Given the description of an element on the screen output the (x, y) to click on. 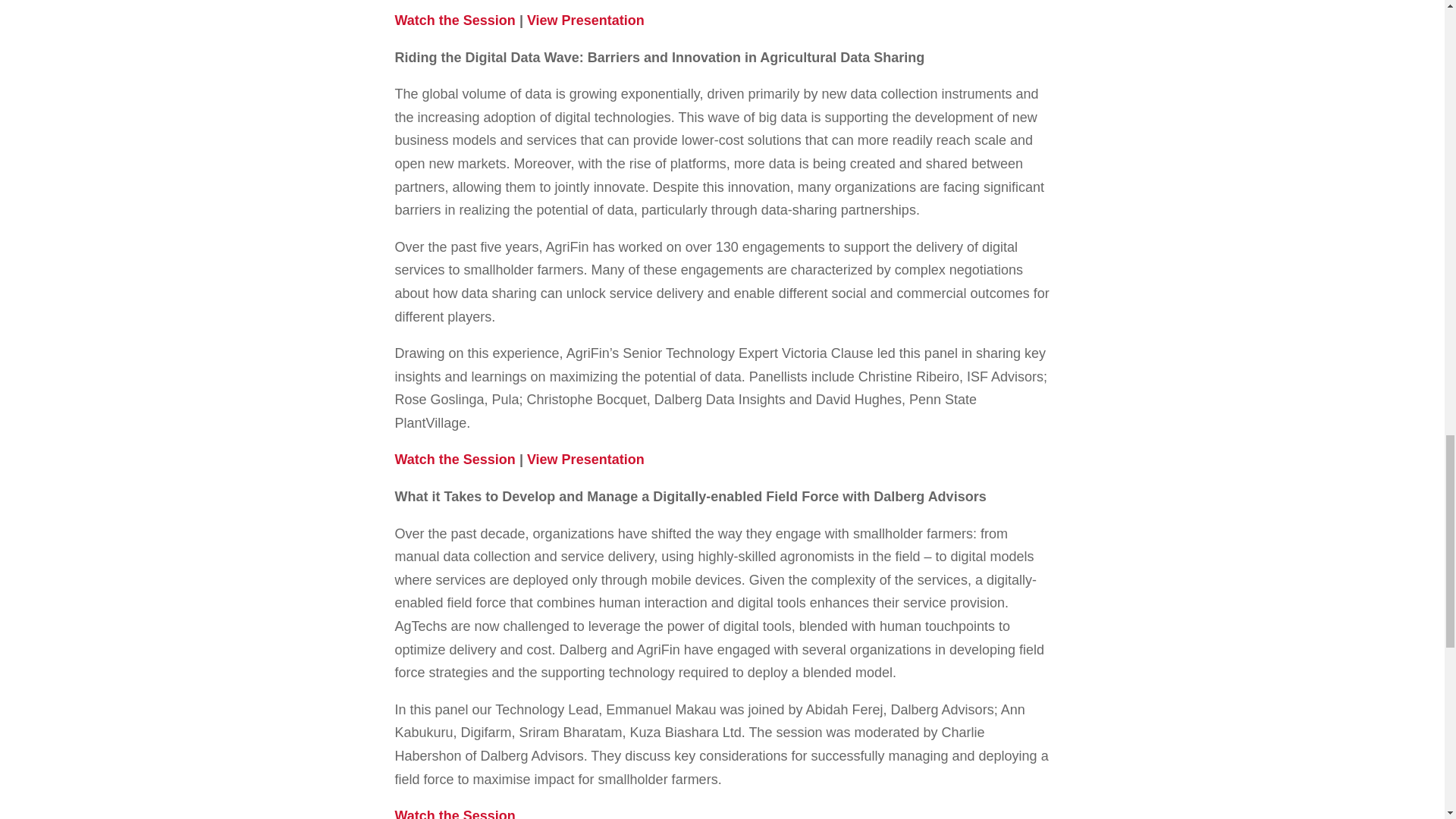
View Presentation (586, 20)
View Presentation (586, 459)
Watch the Session (454, 813)
Watch the Session (454, 459)
Watch the Session (454, 20)
